Given the description of an element on the screen output the (x, y) to click on. 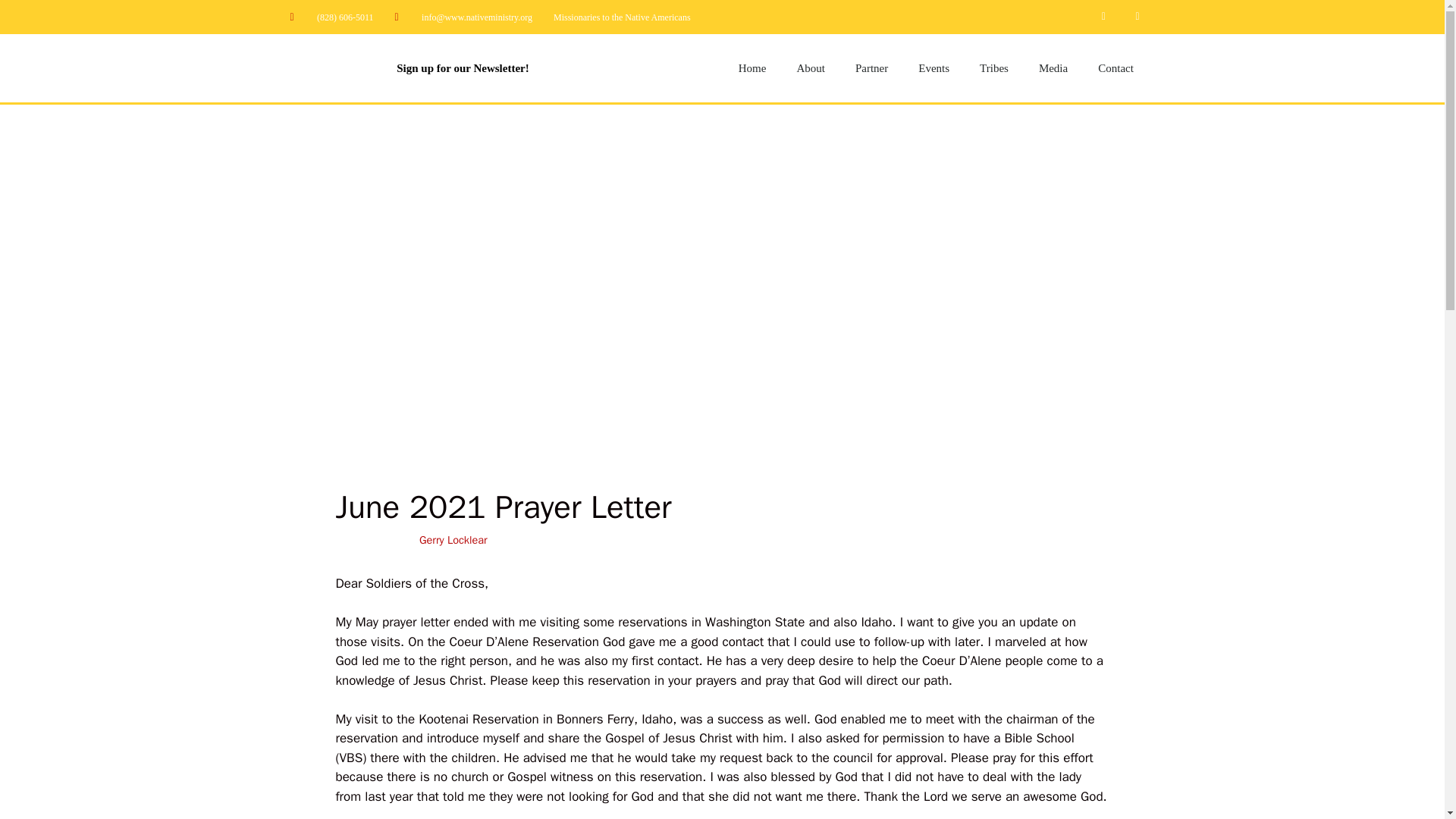
Sign up for our Newsletter! (462, 68)
Events (932, 68)
Partner (871, 68)
Gerry Locklear (453, 540)
View all posts by Gerry Locklear (453, 540)
Contact (1115, 68)
